Given the description of an element on the screen output the (x, y) to click on. 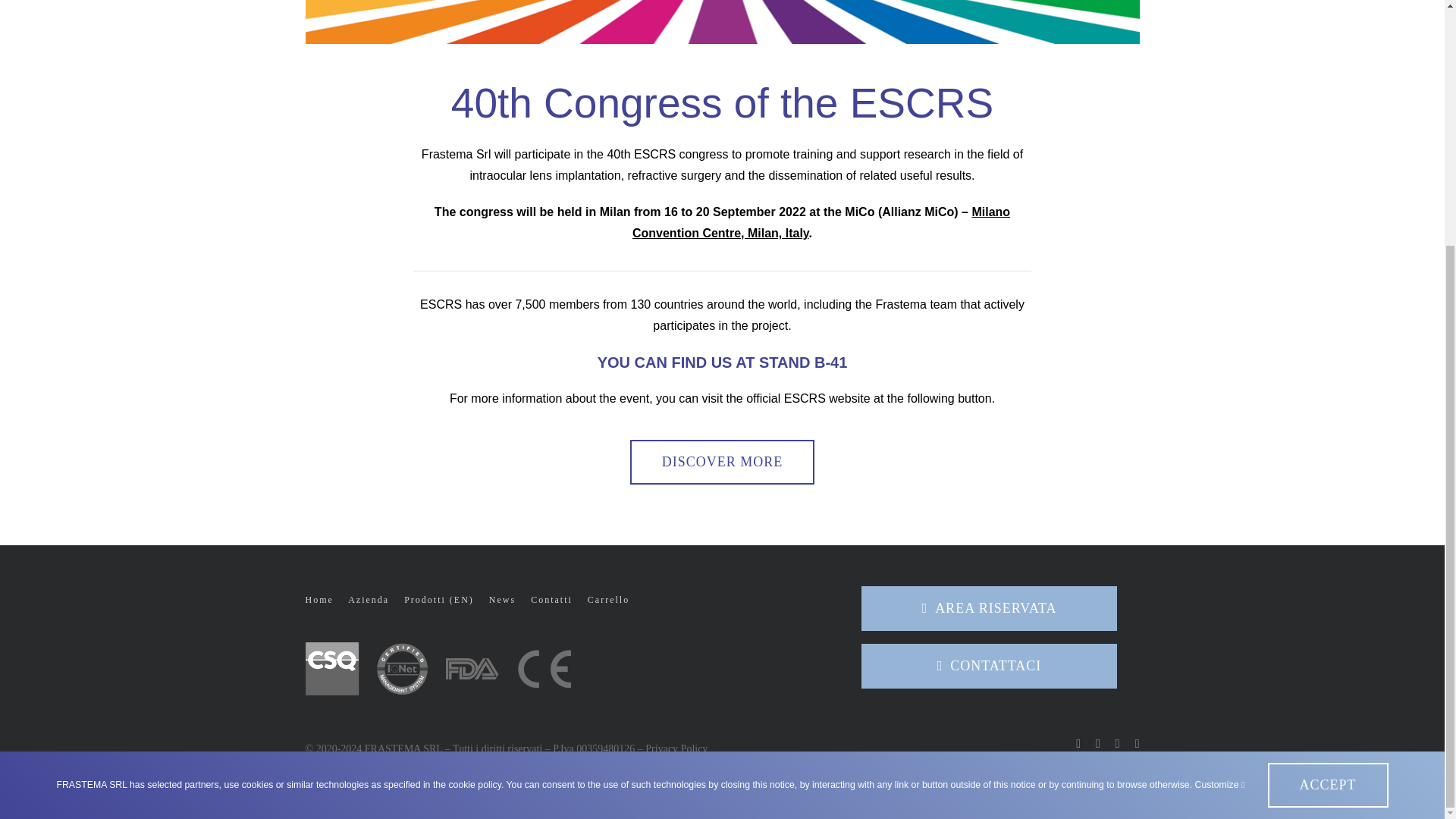
LinkedIn (1117, 743)
Instagram (1098, 743)
YouTube (1137, 743)
Facebook (1077, 743)
